Given the description of an element on the screen output the (x, y) to click on. 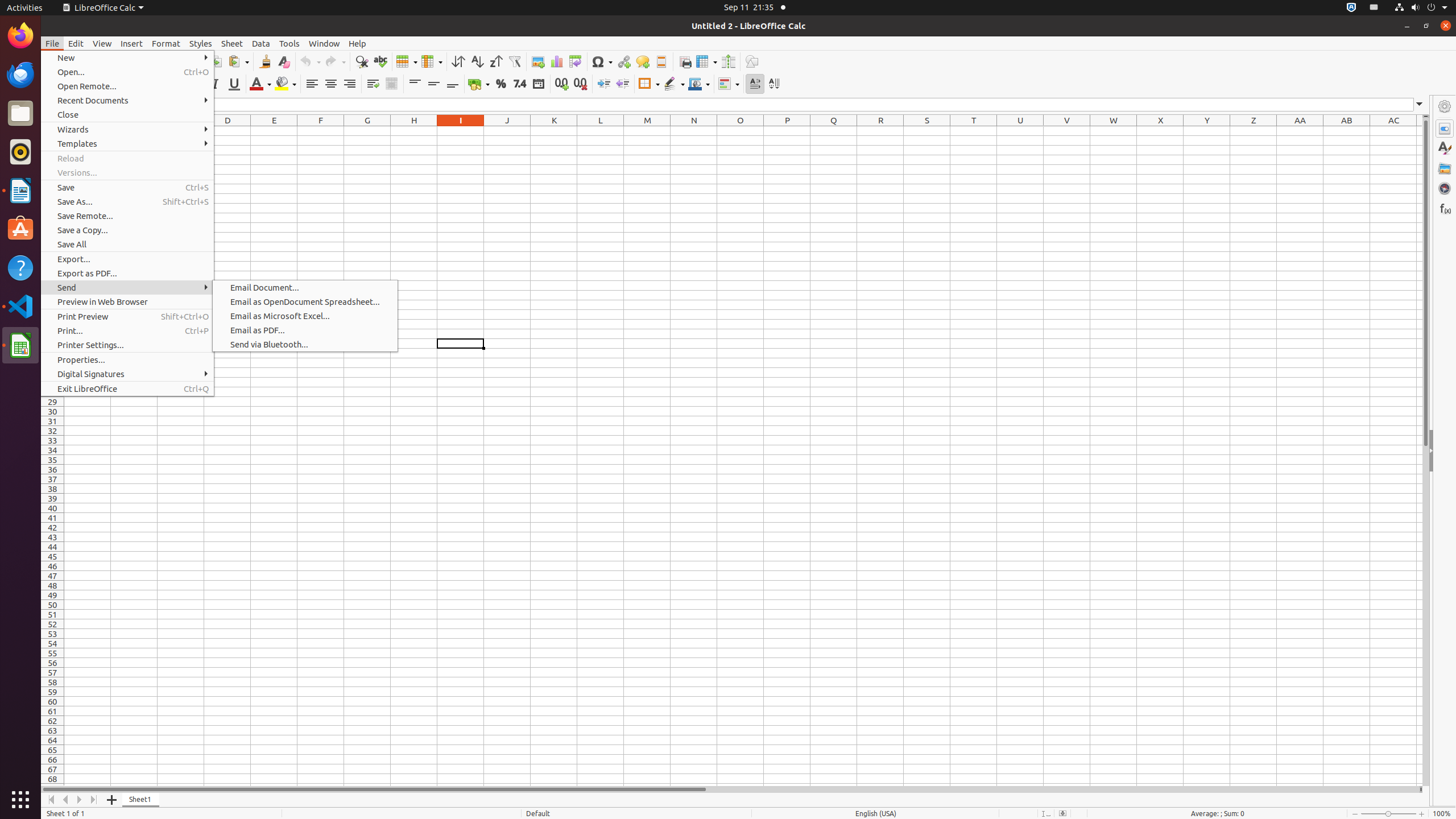
Styles Element type: radio-button (1444, 148)
Expand Formula Bar Element type: push-button (1419, 104)
Email as OpenDocument Spreadsheet... Element type: menu-item (304, 301)
AD1 Element type: table-cell (1419, 130)
Increase Element type: push-button (603, 83)
